Given the description of an element on the screen output the (x, y) to click on. 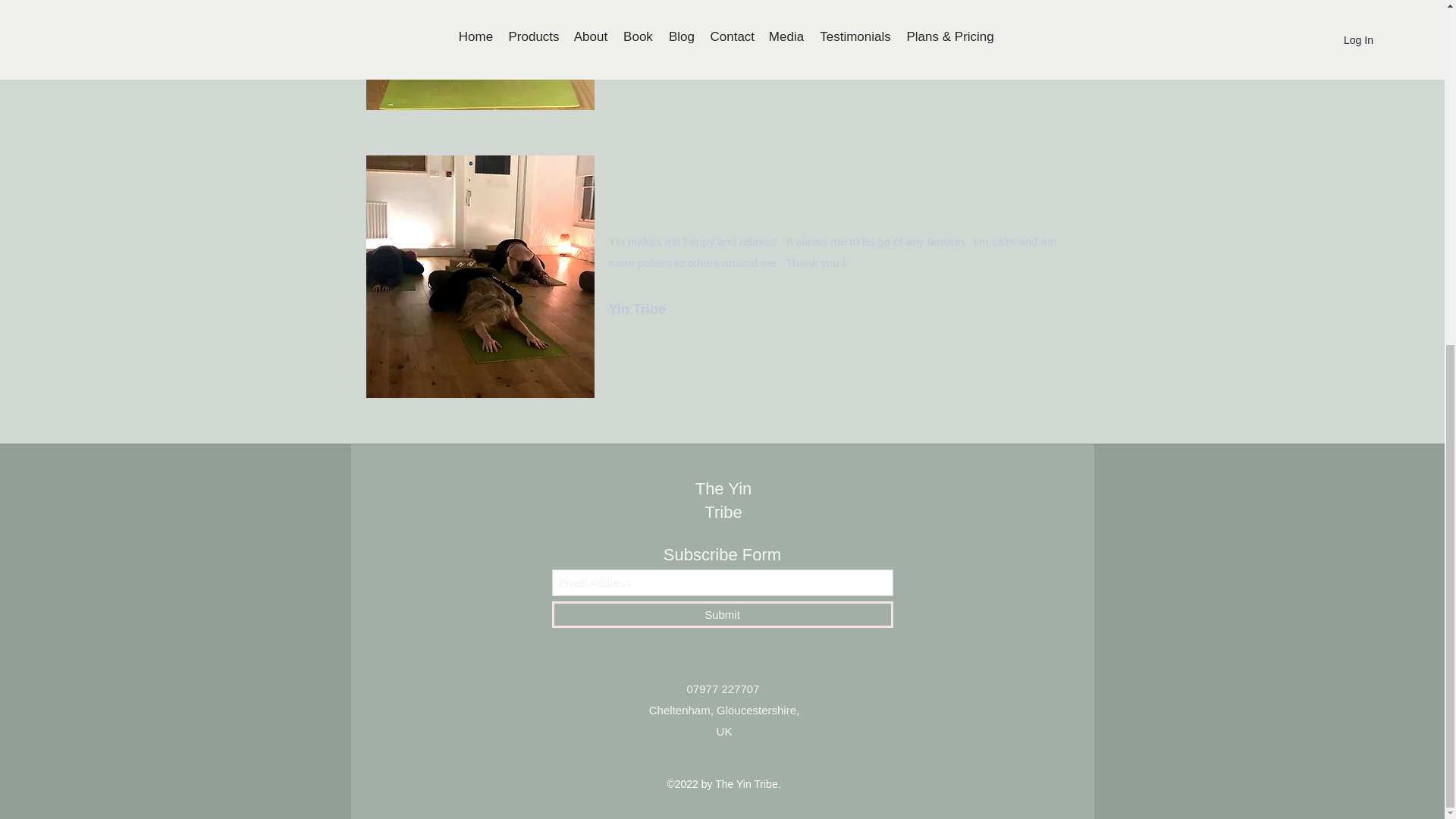
Submit (722, 614)
The Yin Tribe (723, 500)
